Given the description of an element on the screen output the (x, y) to click on. 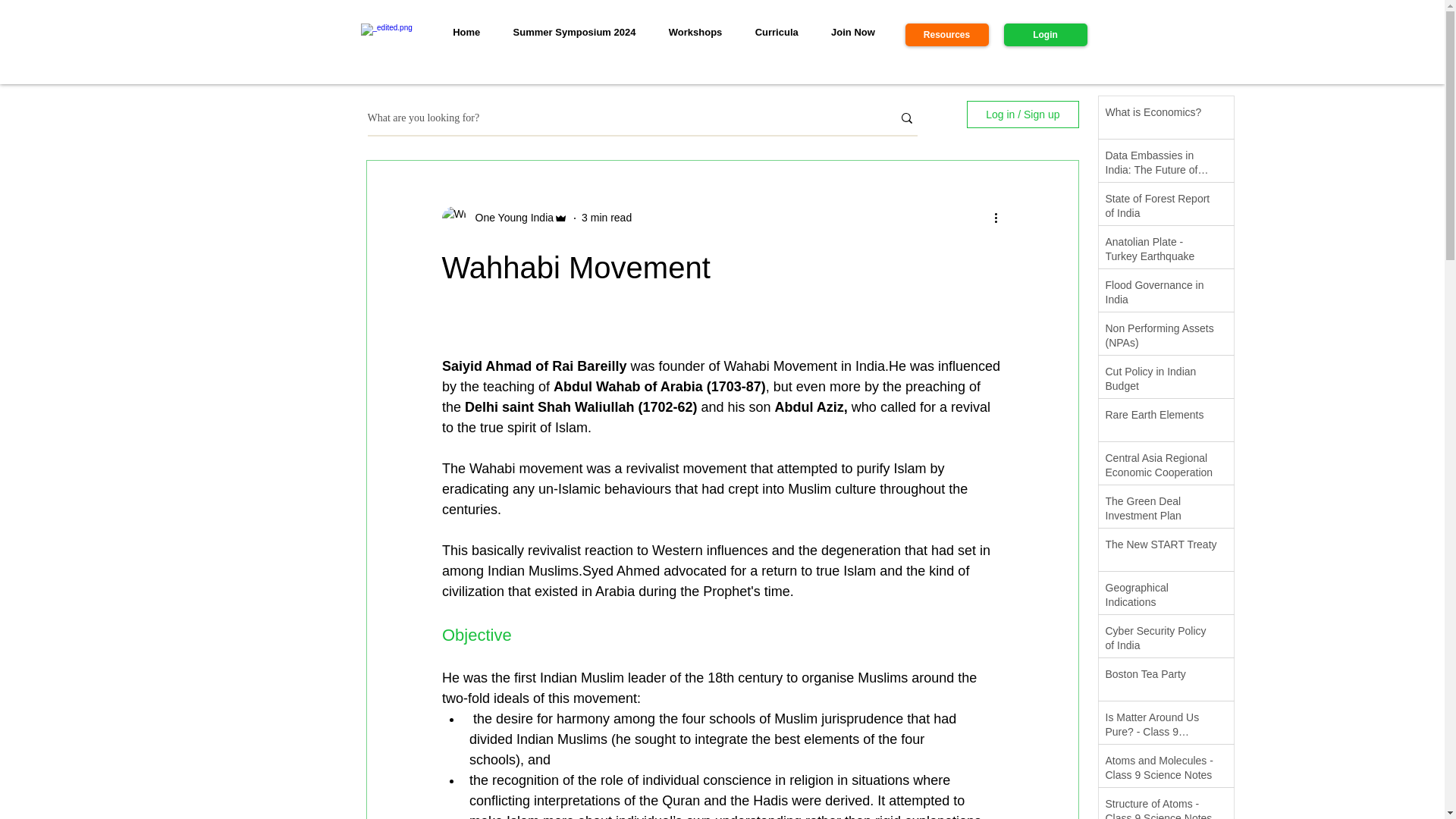
Workshops (695, 32)
Rare Earth Elements (1161, 418)
Summer Symposium 2024 (574, 32)
What is Economics? (1161, 115)
Curricula (775, 32)
Anatolian Plate - Turkey Earthquake (1161, 253)
Home (466, 32)
Login (1045, 34)
State of Forest Report of India (1161, 209)
Flood Governance in India (1161, 295)
Resources (946, 34)
Join Now (852, 32)
One Young India (509, 217)
Cut Policy in Indian Budget (1161, 382)
